Given the description of an element on the screen output the (x, y) to click on. 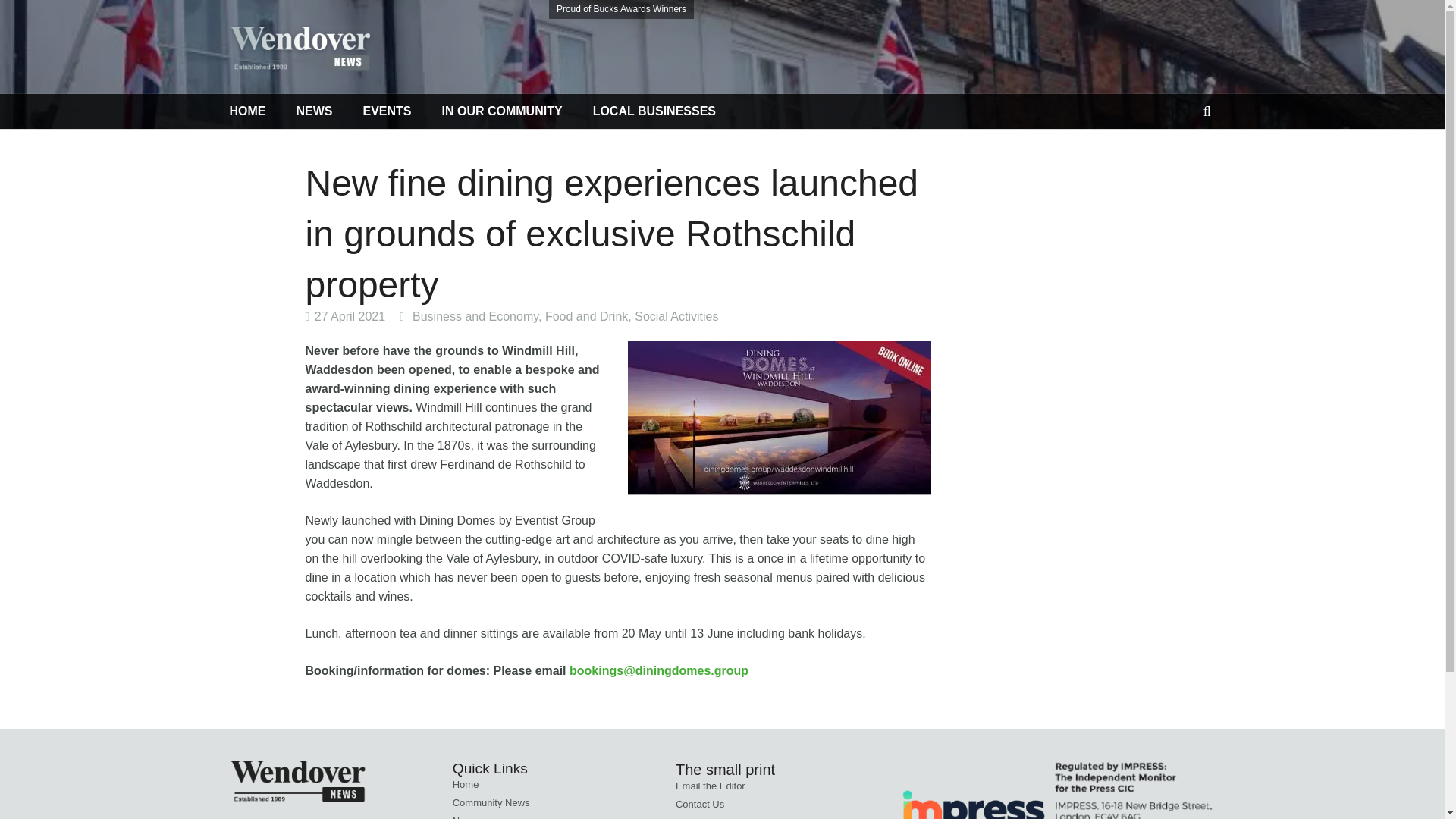
EVENTS (386, 111)
Business and Economy (475, 316)
NEWS (314, 111)
Food and Drink (585, 316)
HOME (254, 111)
IN OUR COMMUNITY (502, 111)
Social Activities (675, 316)
LOCAL BUSINESSES (654, 111)
